Given the description of an element on the screen output the (x, y) to click on. 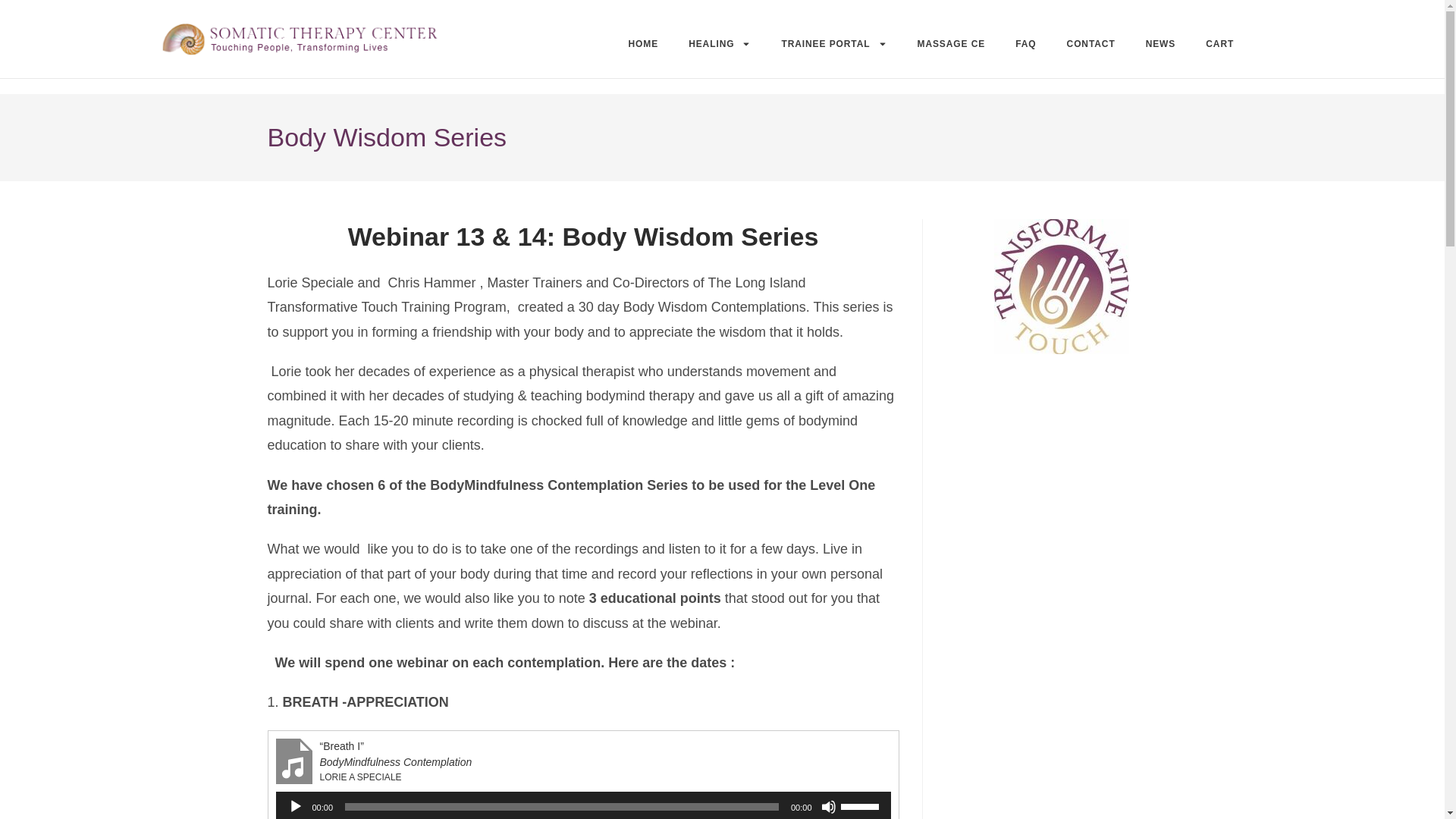
Play (295, 806)
CART (1220, 43)
HEALING (718, 43)
CONTACT (1091, 43)
TRAINEE PORTAL (833, 43)
MASSAGE CE (951, 43)
FAQ (1025, 43)
Mute (828, 806)
HOME (643, 43)
NEWS (1161, 43)
